Given the description of an element on the screen output the (x, y) to click on. 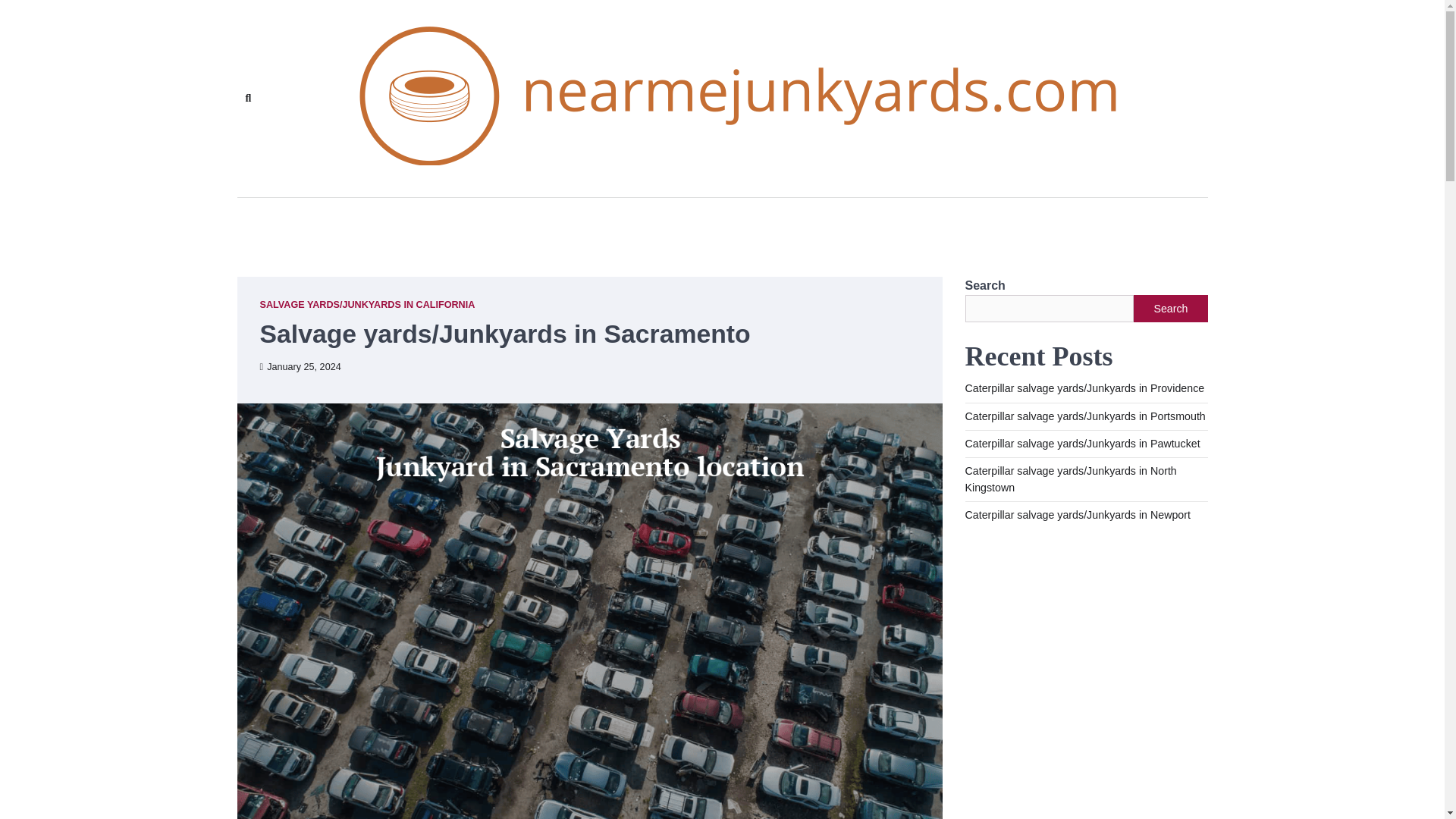
Search (443, 134)
January 25, 2024 (299, 366)
Search (1170, 308)
Search (247, 97)
